Given the description of an element on the screen output the (x, y) to click on. 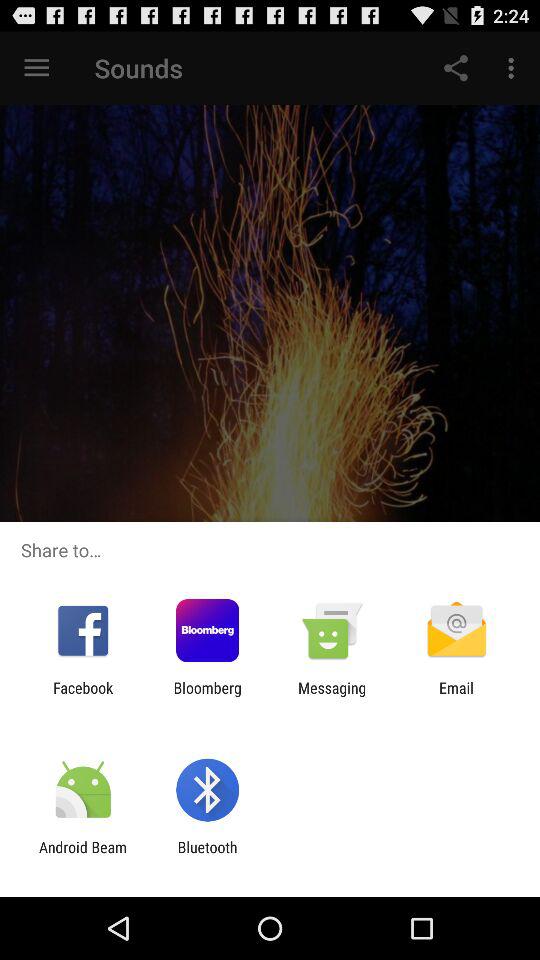
turn off the item to the right of bloomberg (332, 696)
